Given the description of an element on the screen output the (x, y) to click on. 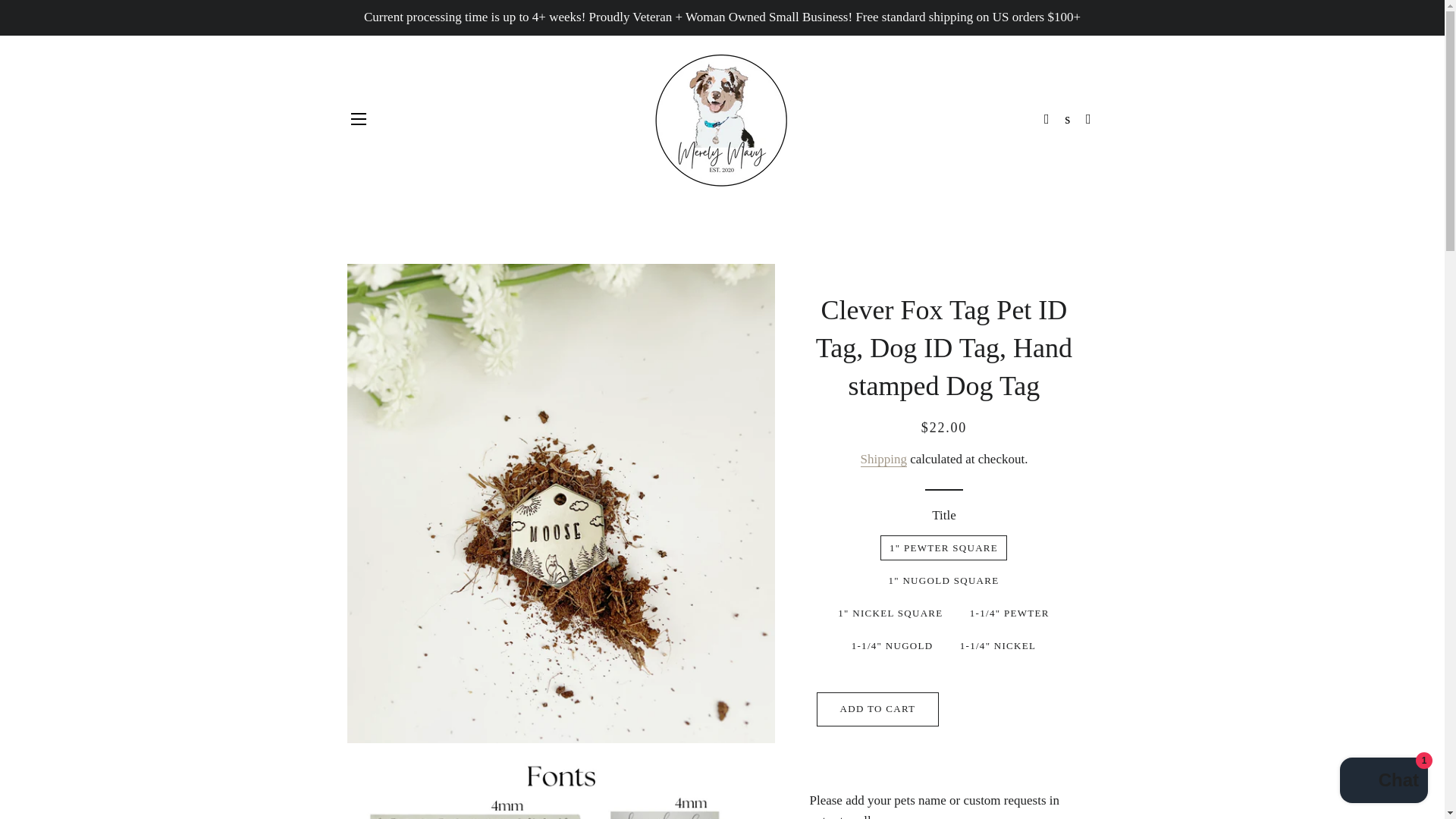
Shopify online store chat (1383, 781)
SITE NAVIGATION (358, 118)
